Given the description of an element on the screen output the (x, y) to click on. 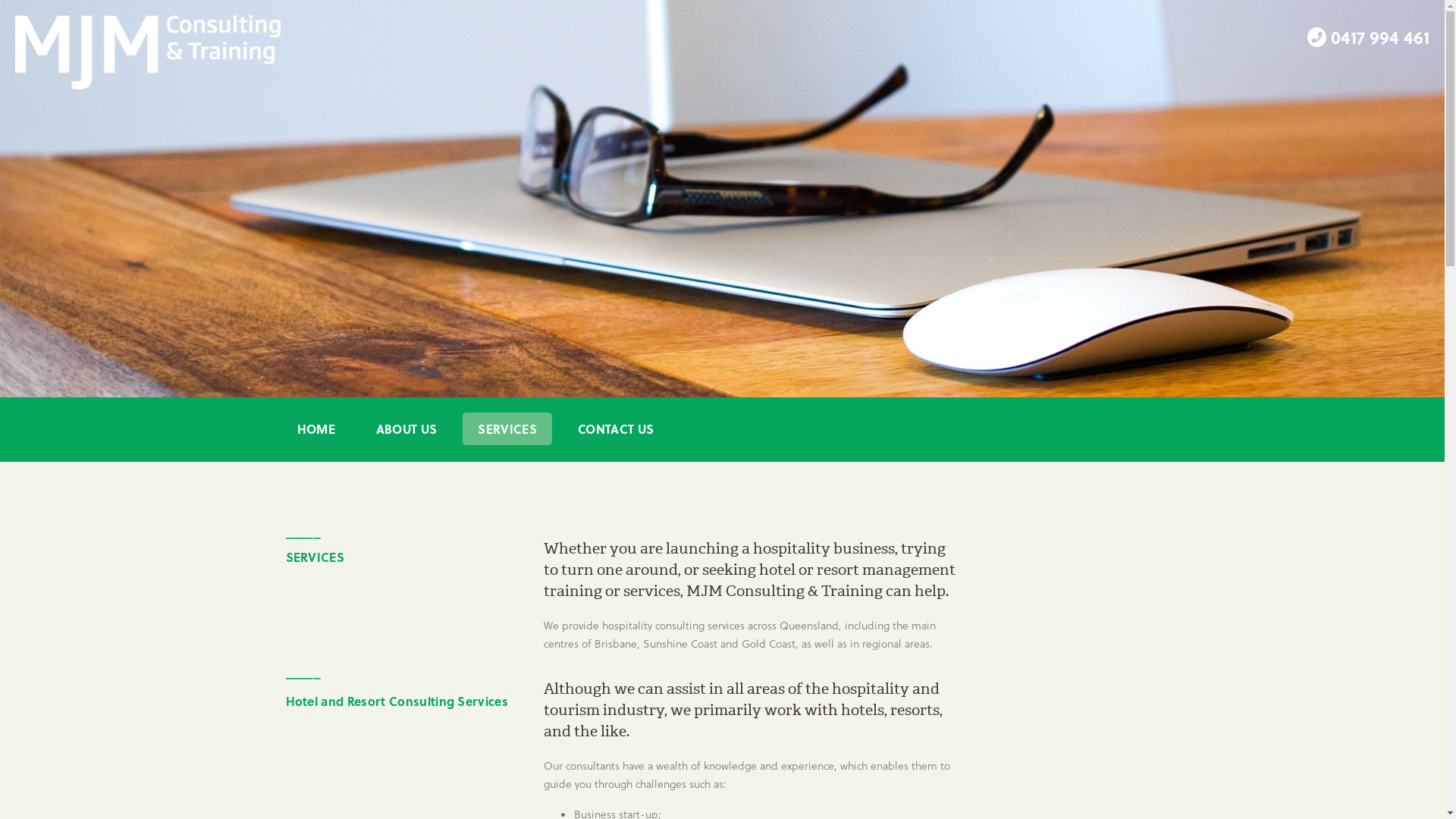
HOME Element type: text (316, 428)
CONTACT US Element type: text (615, 428)
ABOUT US Element type: text (406, 428)
0417 994 461 Element type: text (1379, 37)
